Given the description of an element on the screen output the (x, y) to click on. 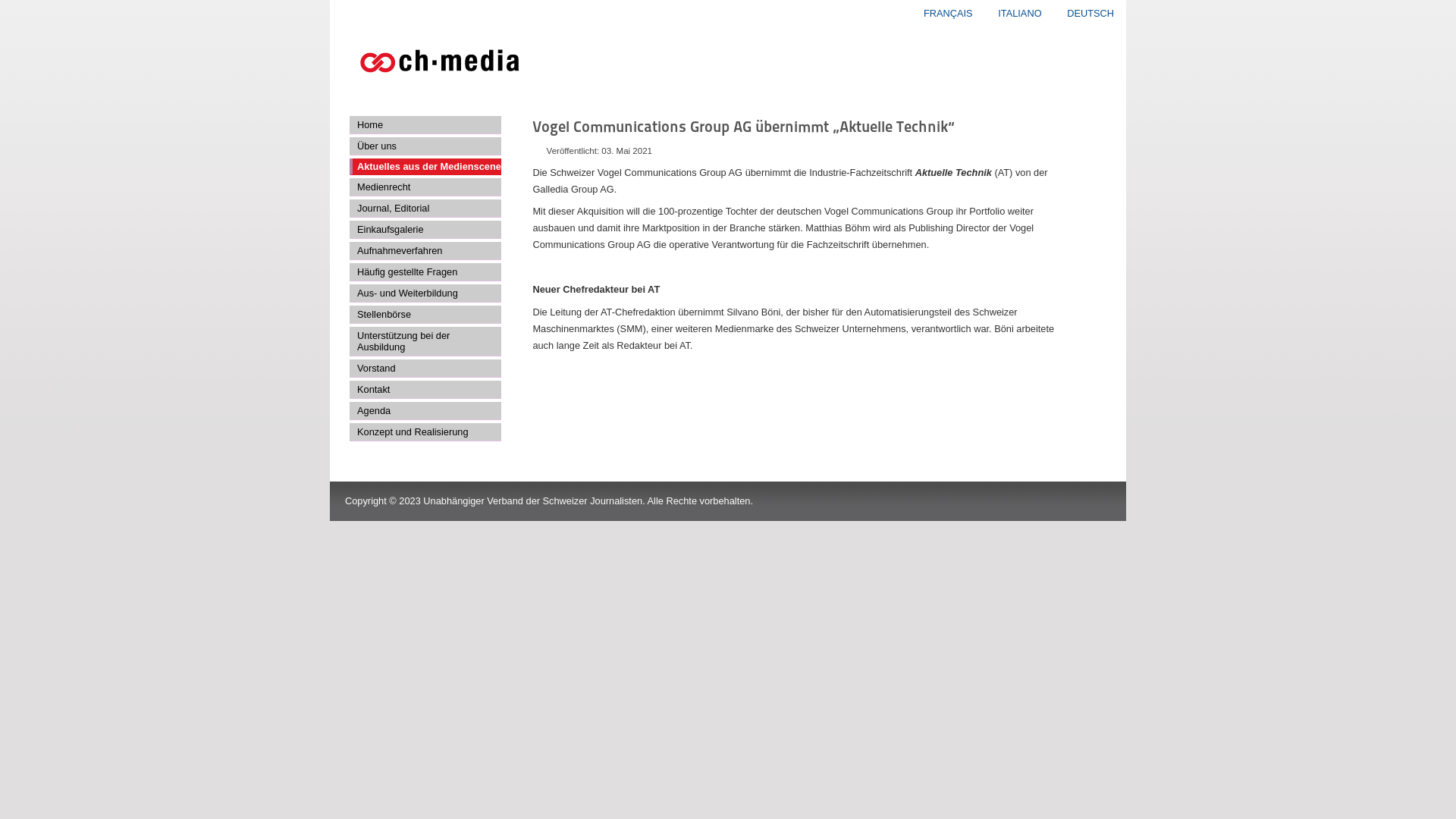
Journal, Editorial Element type: text (425, 208)
Aufnahmeverfahren Element type: text (425, 250)
Medienrecht Element type: text (425, 187)
Agenda Element type: text (425, 410)
Aktuelles aus der Medienscene Element type: text (425, 166)
Vorstand Element type: text (425, 368)
ITALIANO Element type: text (1020, 13)
DEUTSCH Element type: text (1090, 13)
Konzept und Realisierung Element type: text (425, 432)
Einkaufsgalerie Element type: text (425, 229)
Home Element type: text (425, 125)
Kontakt Element type: text (425, 389)
Aus- und Weiterbildung Element type: text (425, 293)
